Given the description of an element on the screen output the (x, y) to click on. 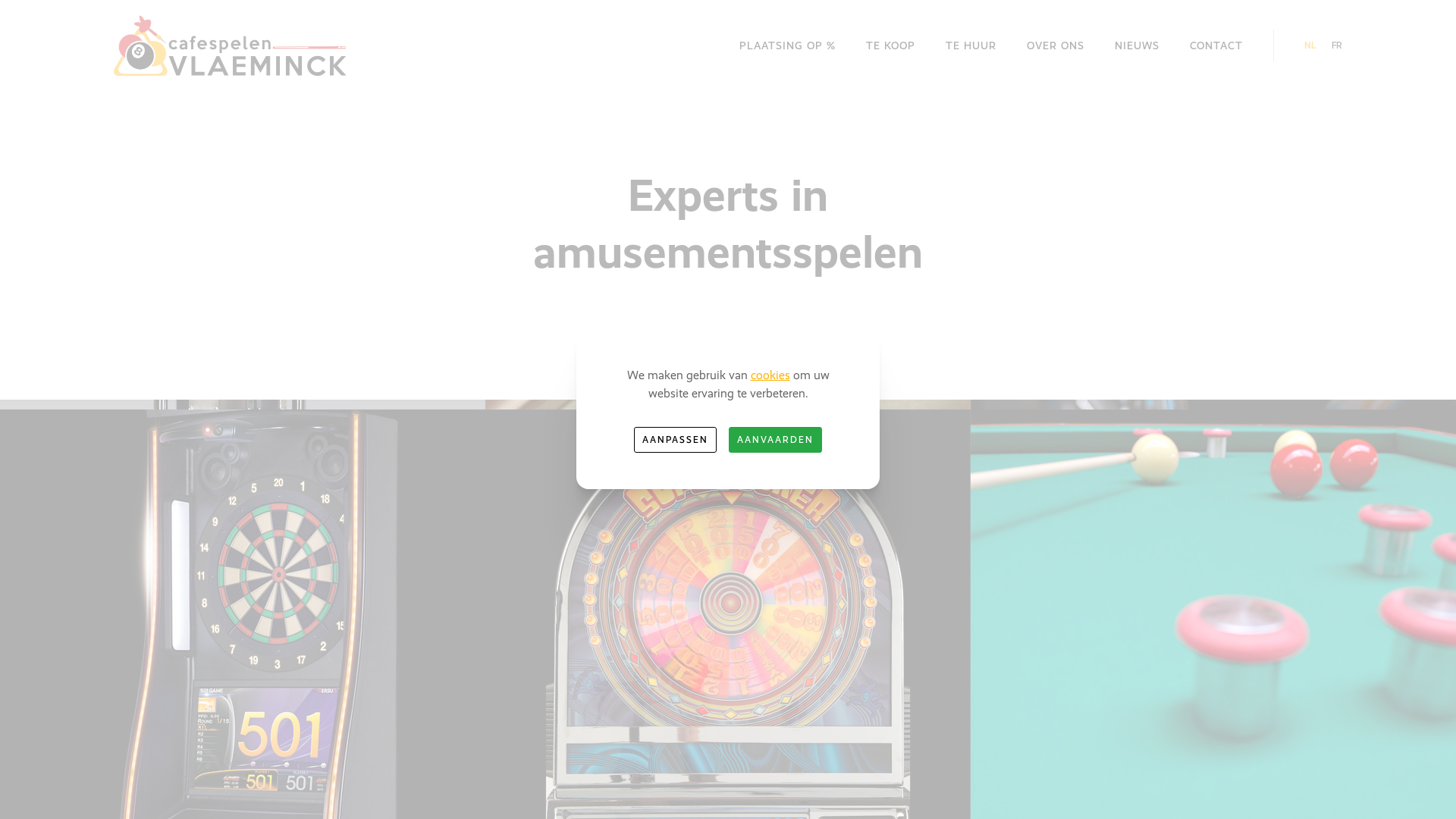
AANVAARDEN Element type: text (775, 439)
CONTACT Element type: text (1216, 44)
PLAATSING OP % Element type: text (787, 44)
cookies Element type: text (770, 374)
OVER ONS Element type: text (1055, 44)
TE KOOP Element type: text (890, 44)
FR Element type: text (1336, 45)
AANPASSEN Element type: text (674, 439)
TE HUUR Element type: text (970, 44)
NL Element type: text (1310, 45)
ONTDEK ONZE TOESTELLEN Element type: text (727, 398)
NIEUWS Element type: text (1136, 44)
